Given the description of an element on the screen output the (x, y) to click on. 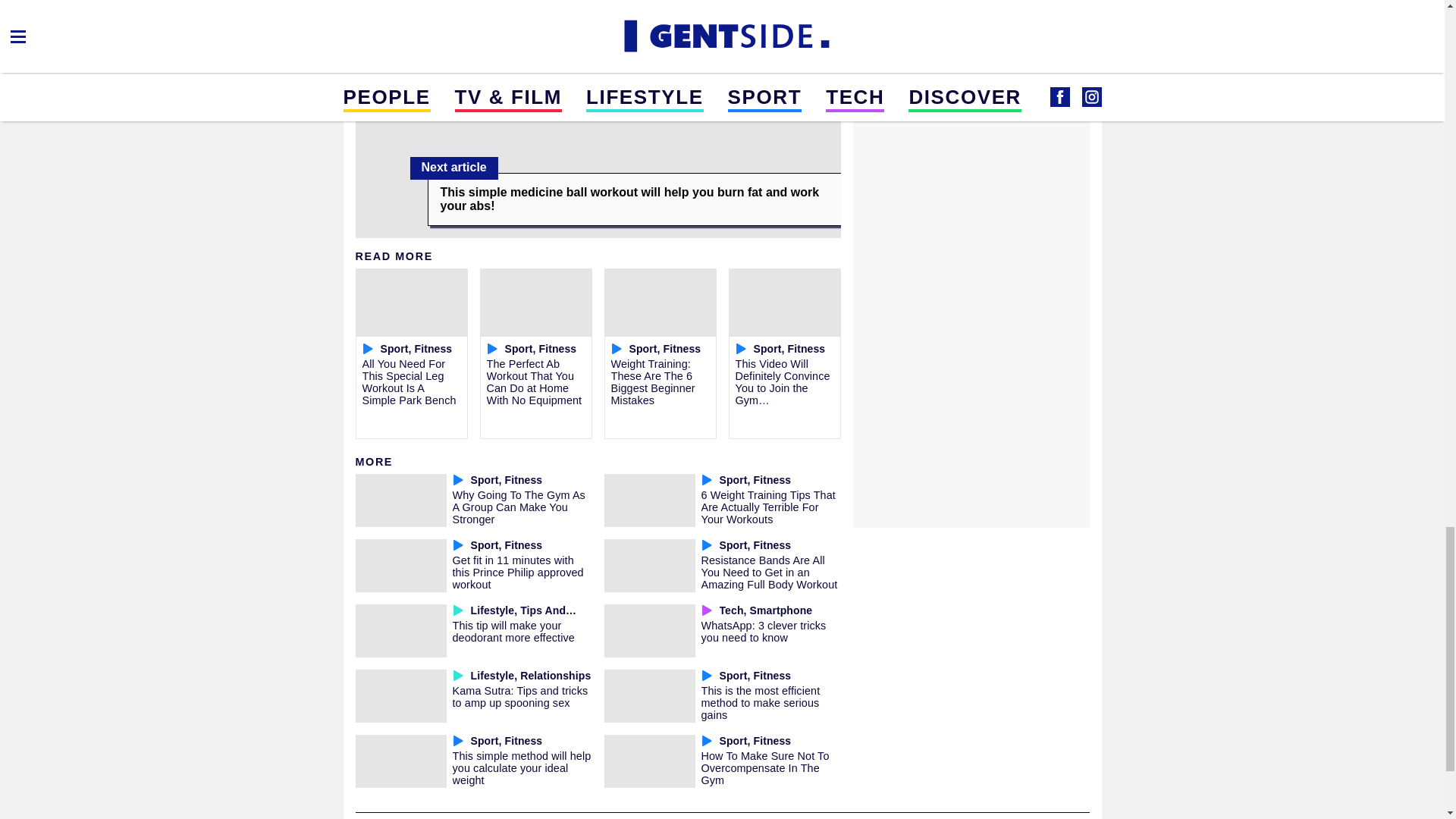
Why Going To The Gym As A Group Can Make You Stronger (518, 506)
This tip will make your deodorant more effective (512, 631)
Weight Training: These Are The 6 Biggest Beginner Mistakes (653, 381)
This simple method will help you calculate your ideal weight (521, 768)
Kama Sutra: Tips and tricks to amp up spooning sex (519, 696)
How To Make Sure Not To Overcompensate In The Gym (764, 768)
WhatsApp: 3 clever tricks you need to know (762, 631)
This is the most efficient method to make serious gains (759, 702)
